Given the description of an element on the screen output the (x, y) to click on. 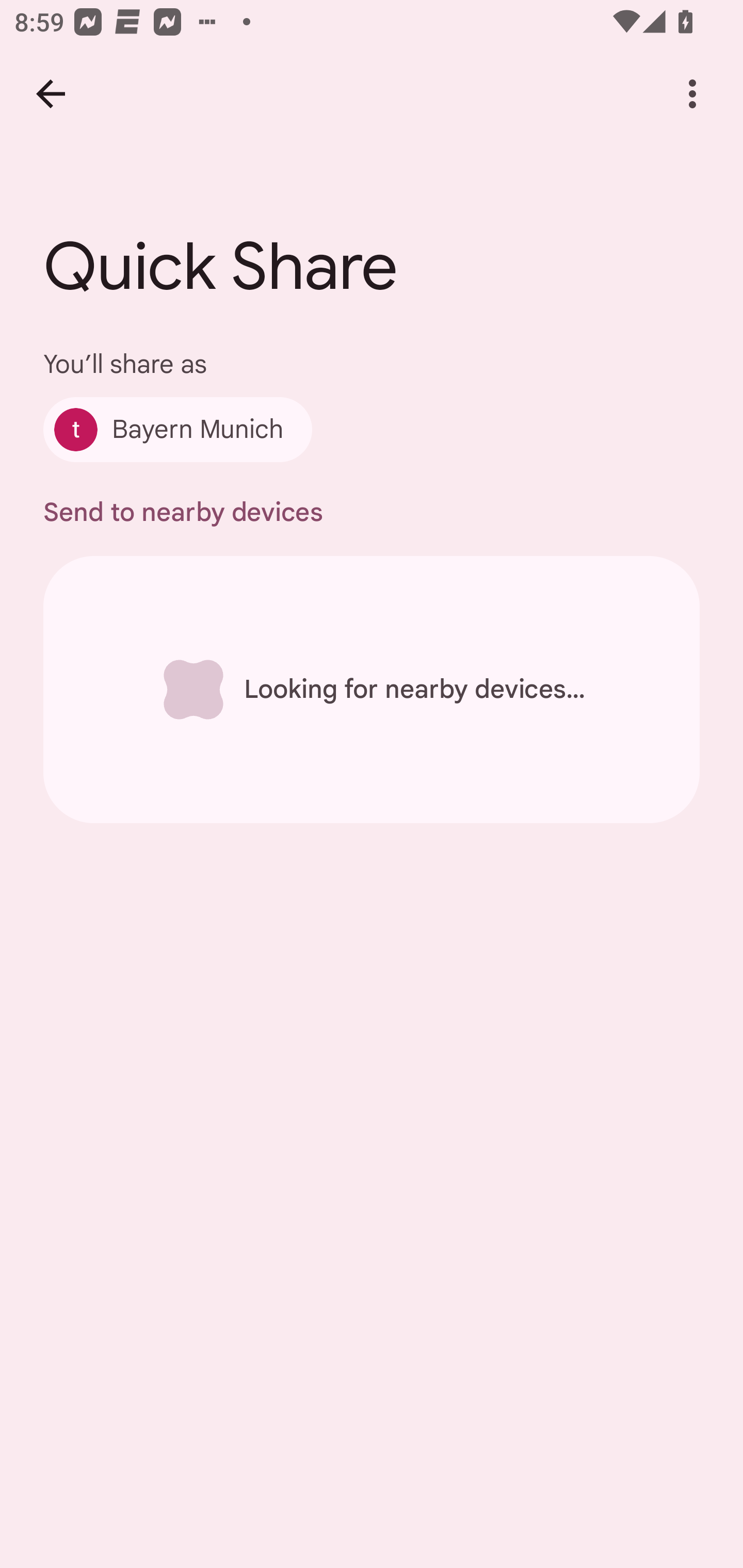
Back (50, 93)
More (692, 93)
Bayern Munich (177, 429)
